Given the description of an element on the screen output the (x, y) to click on. 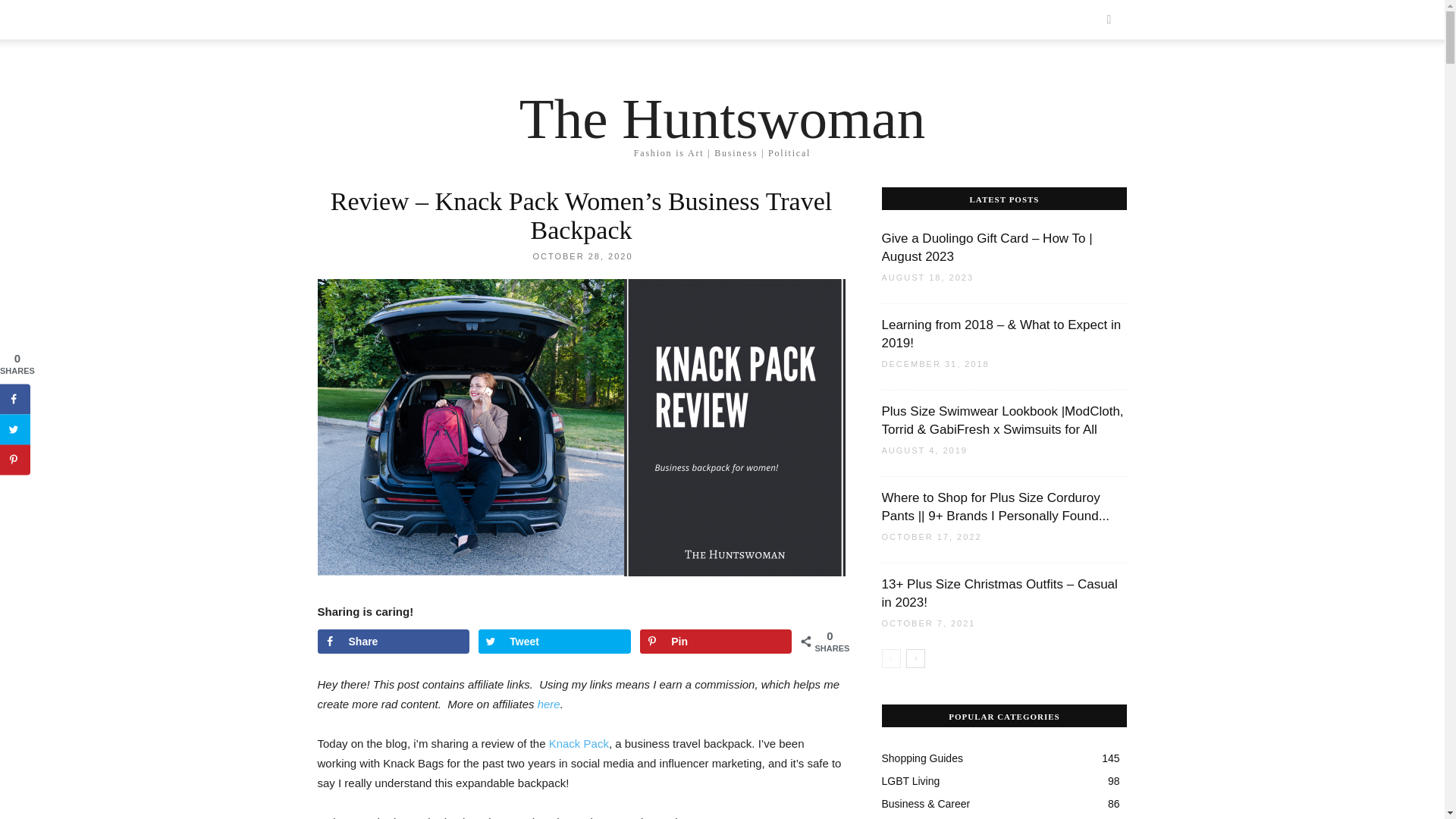
CONTACT (703, 19)
Save to Pinterest (716, 641)
Knack Pack (578, 743)
HOME (341, 19)
Pin (716, 641)
here (548, 703)
ABOUT (761, 19)
TRAVEL (564, 19)
LGBT LIVING (631, 19)
Share on Twitter (554, 641)
